Given the description of an element on the screen output the (x, y) to click on. 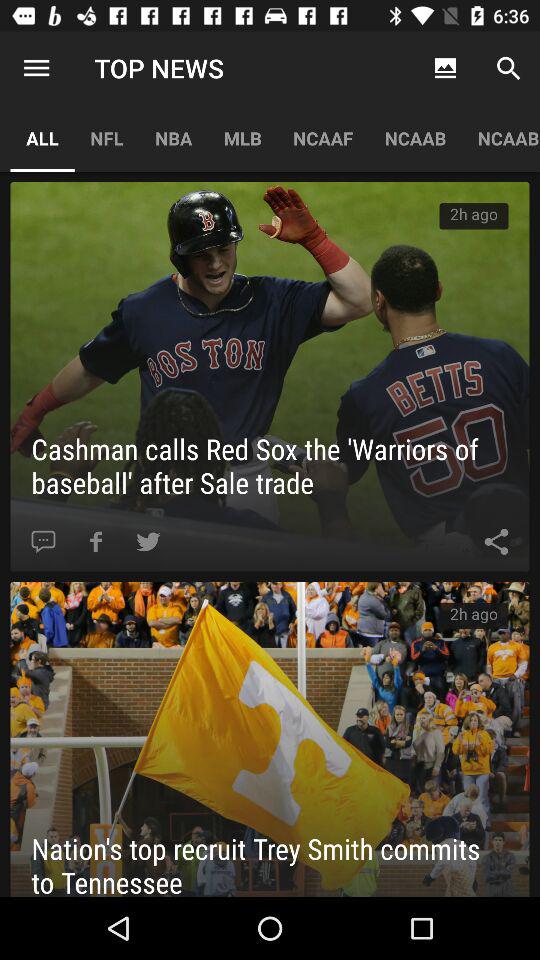
tap icon to the right of all app (106, 138)
